Given the description of an element on the screen output the (x, y) to click on. 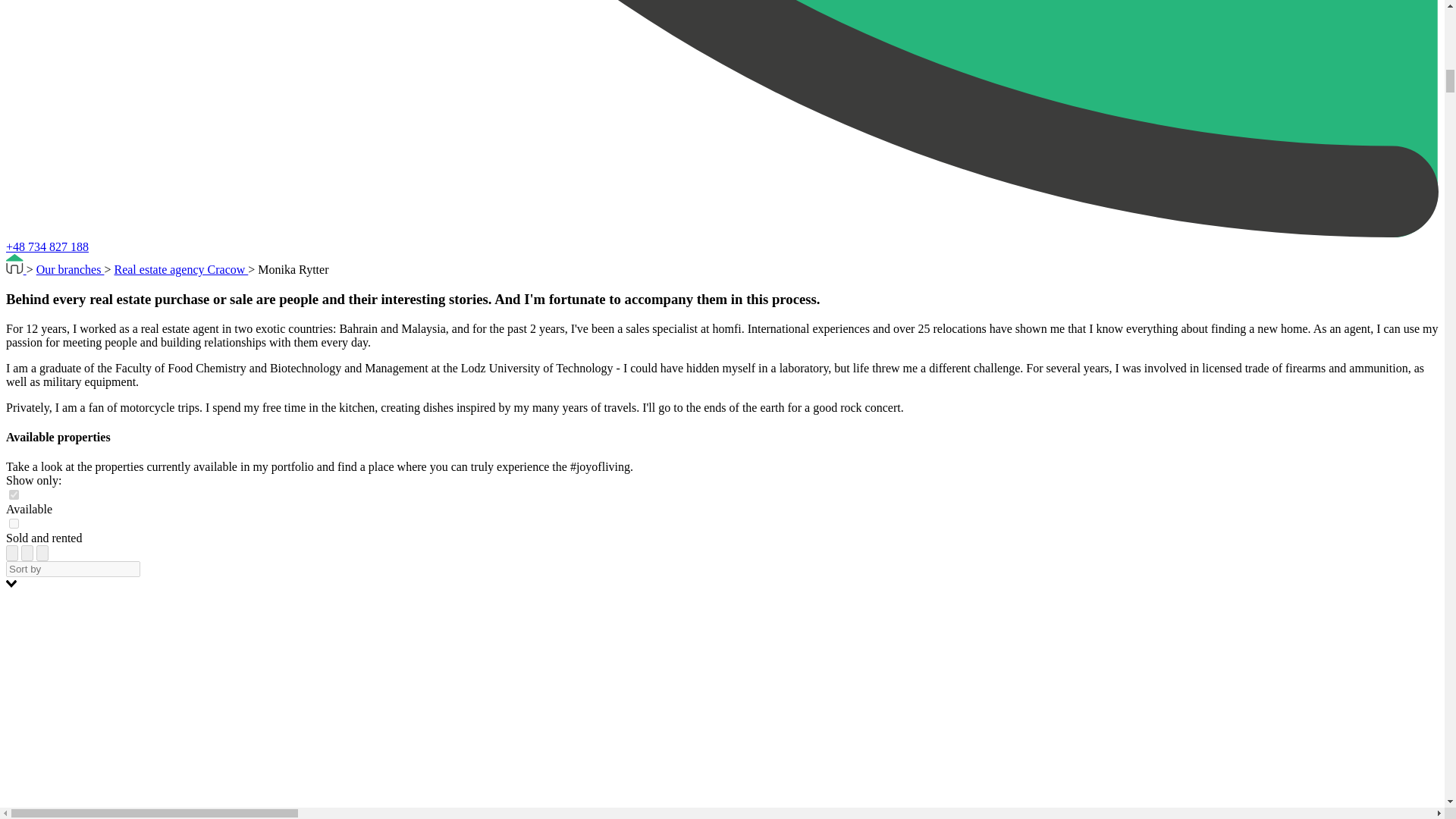
true (13, 523)
true (13, 494)
